Given the description of an element on the screen output the (x, y) to click on. 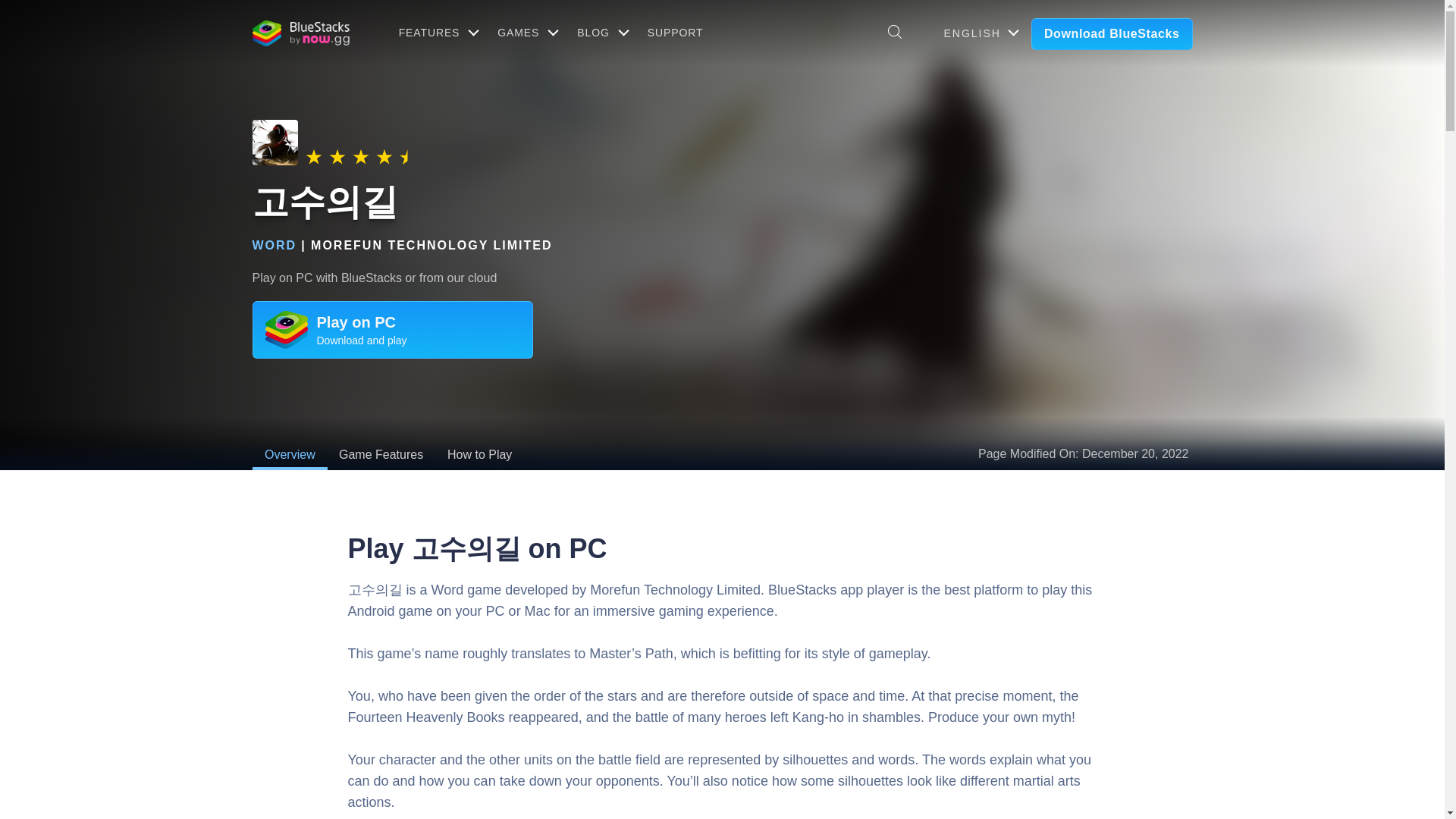
FEATURES (437, 32)
